Given the description of an element on the screen output the (x, y) to click on. 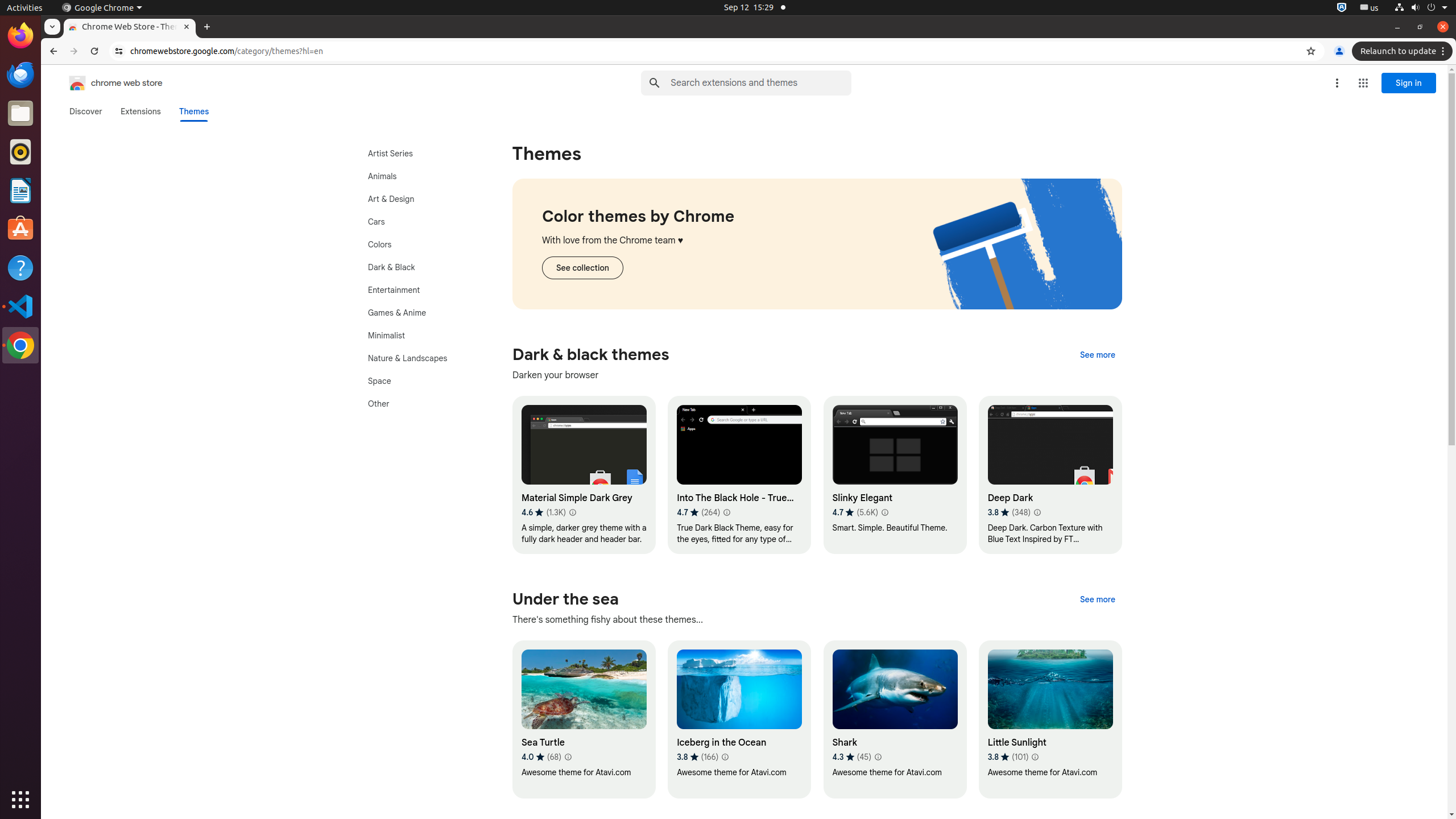
Bookmark this tab Element type: push-button (1310, 51)
Learn more about results and reviews "Into The Black Hole - True Amoled Black Theme" Element type: push-button (725, 512)
Thunderbird Mail Element type: push-button (20, 74)
Sign in Element type: link (1408, 82)
Little Sunlight Element type: link (1050, 719)
